Given the description of an element on the screen output the (x, y) to click on. 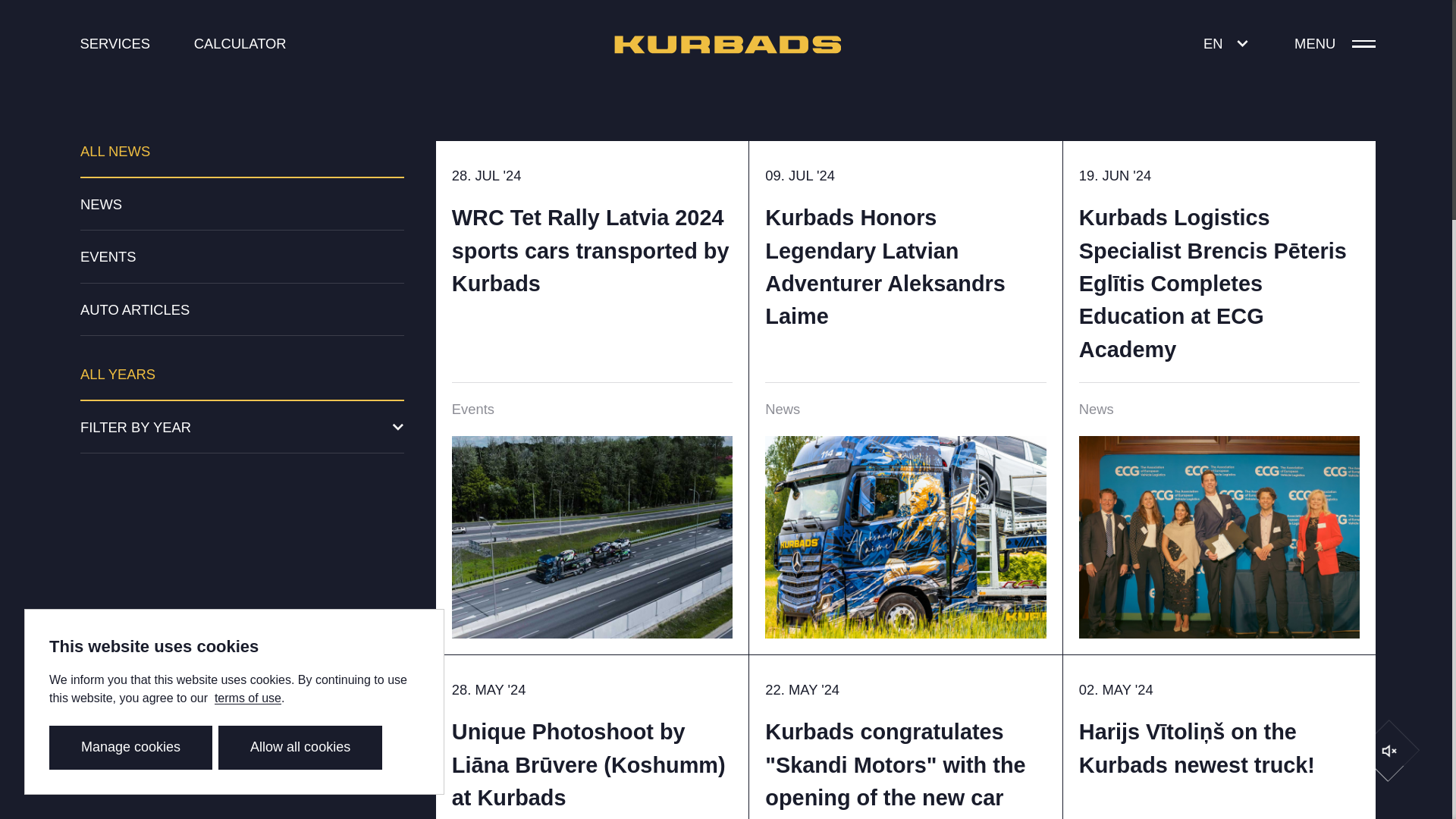
NEWS (242, 204)
EVENTS (242, 257)
ALL YEARS (242, 382)
FILTER BY YEAR (242, 427)
AUTO ARTICLES (242, 309)
ALL NEWS (242, 159)
